Given the description of an element on the screen output the (x, y) to click on. 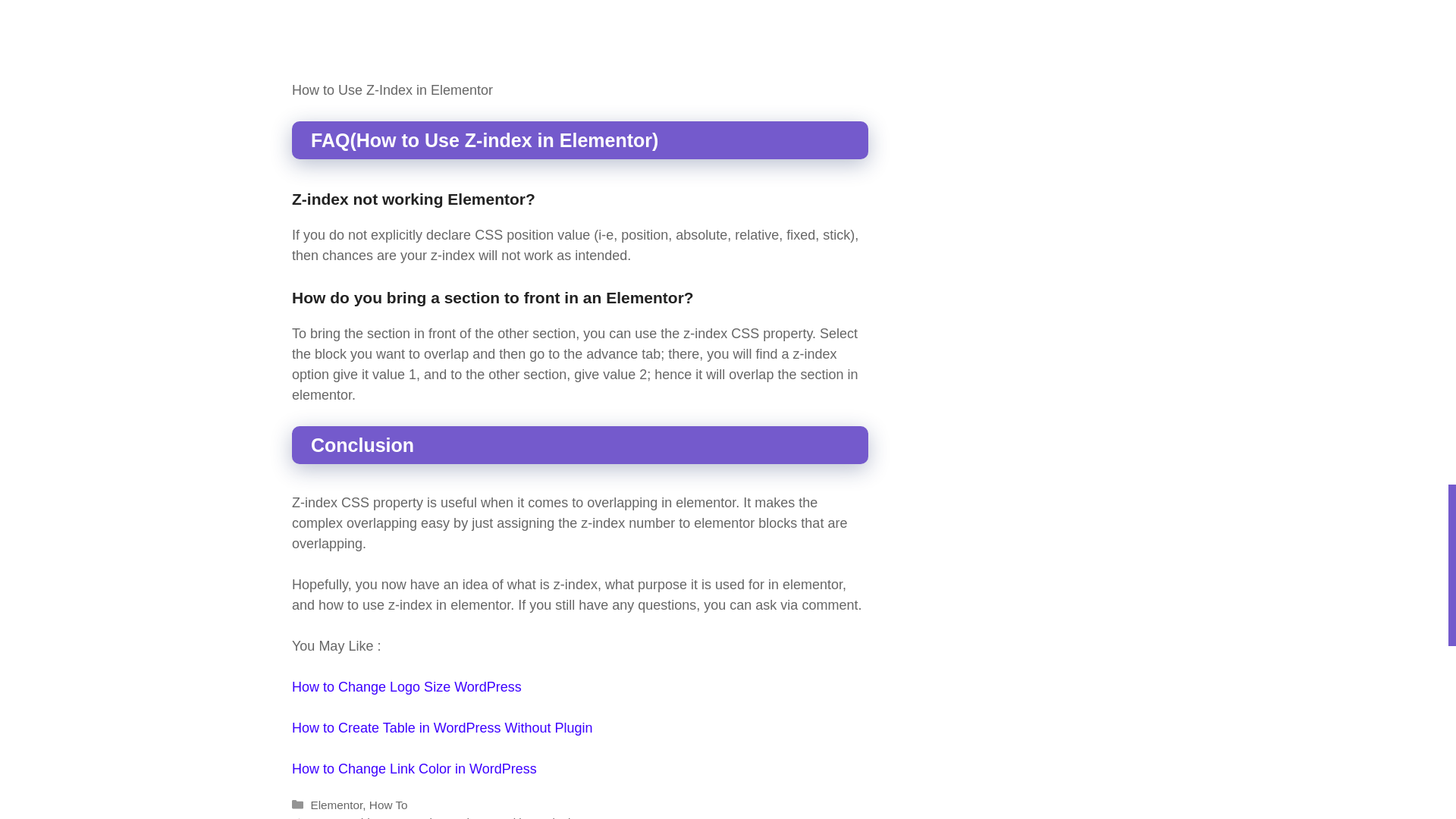
How To Use Z-Index in Elementor (579, 37)
How to Create Table in WordPress Without Plugin (442, 727)
Elementor (336, 804)
How to Change Link Color in WordPress (414, 768)
How to Change Logo Size WordPress (406, 686)
How to Add Meta Tags in WordPress Without Plugin (443, 817)
How To (388, 804)
